Given the description of an element on the screen output the (x, y) to click on. 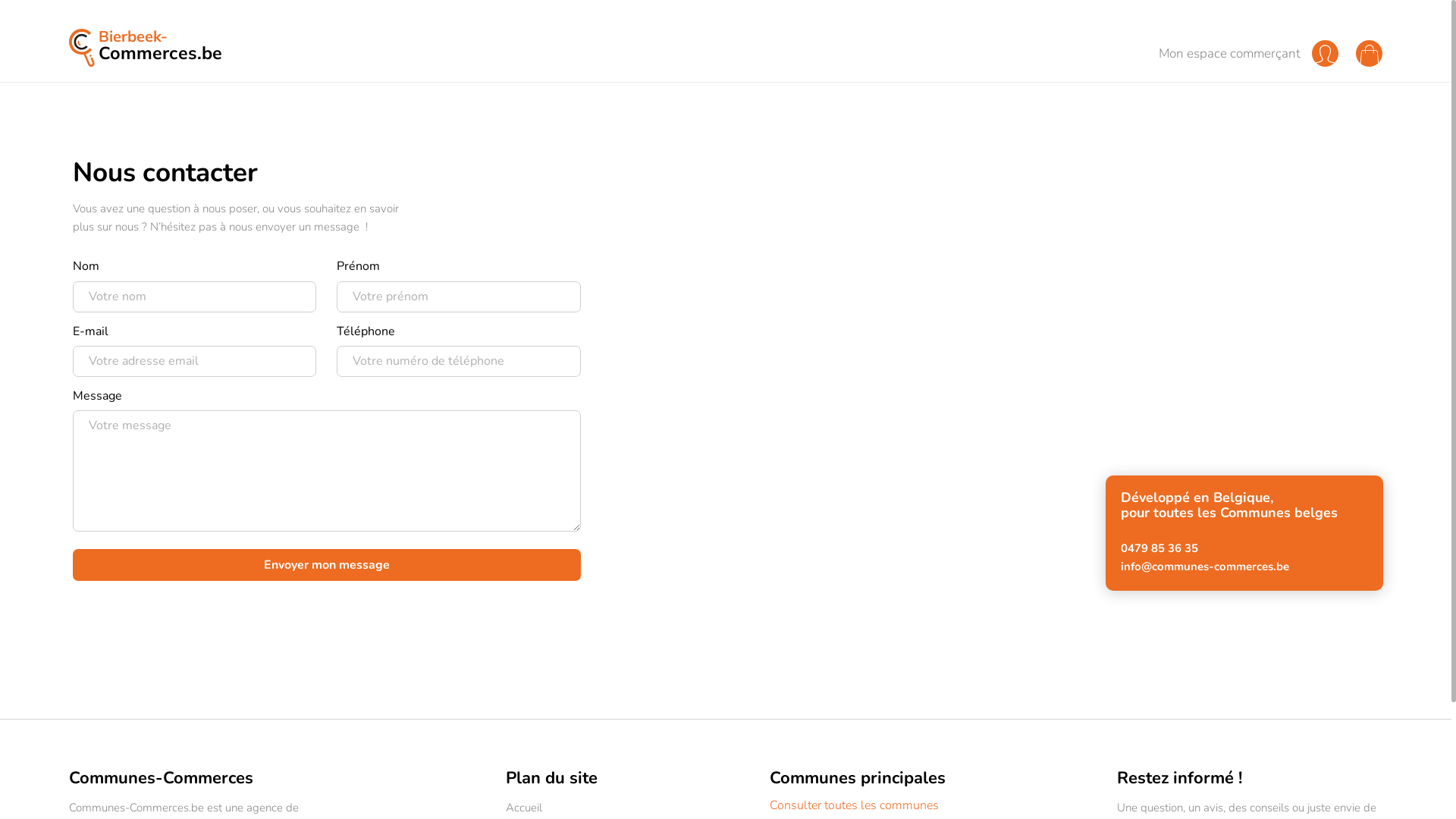
Envoyer mon message Element type: text (326, 564)
icon--basket Element type: text (1368, 54)
Consulter toutes les communes Element type: text (857, 805)
Bierbeek-
Commerces.be Element type: text (233, 47)
Accueil Element type: text (523, 807)
